Given the description of an element on the screen output the (x, y) to click on. 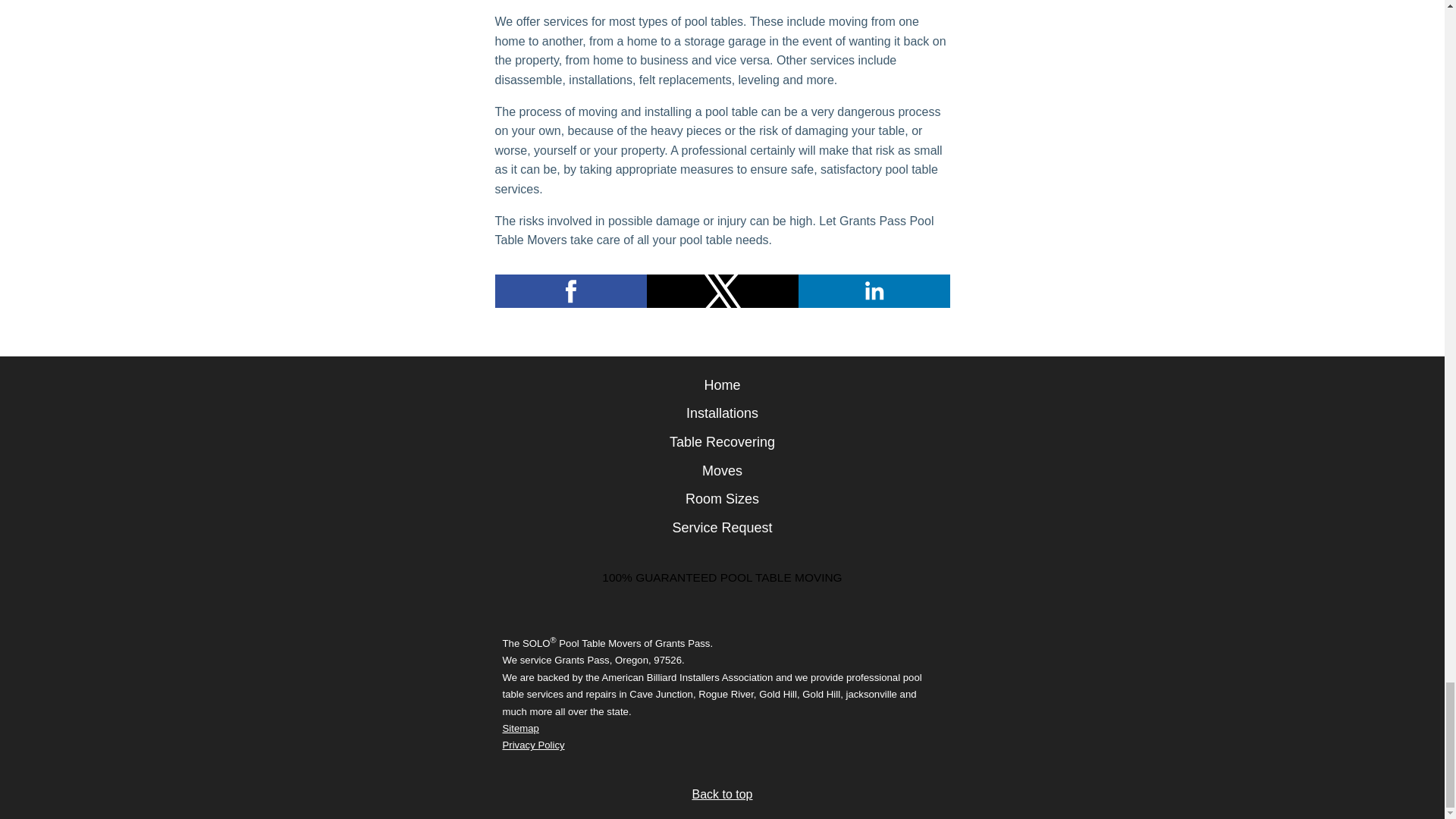
Installations (721, 412)
Privacy Policy (533, 745)
Sitemap (520, 727)
Back to top (721, 793)
Service Request (721, 527)
Table Recovering (721, 441)
Moves (721, 470)
Room Sizes (721, 498)
Home (721, 385)
